Given the description of an element on the screen output the (x, y) to click on. 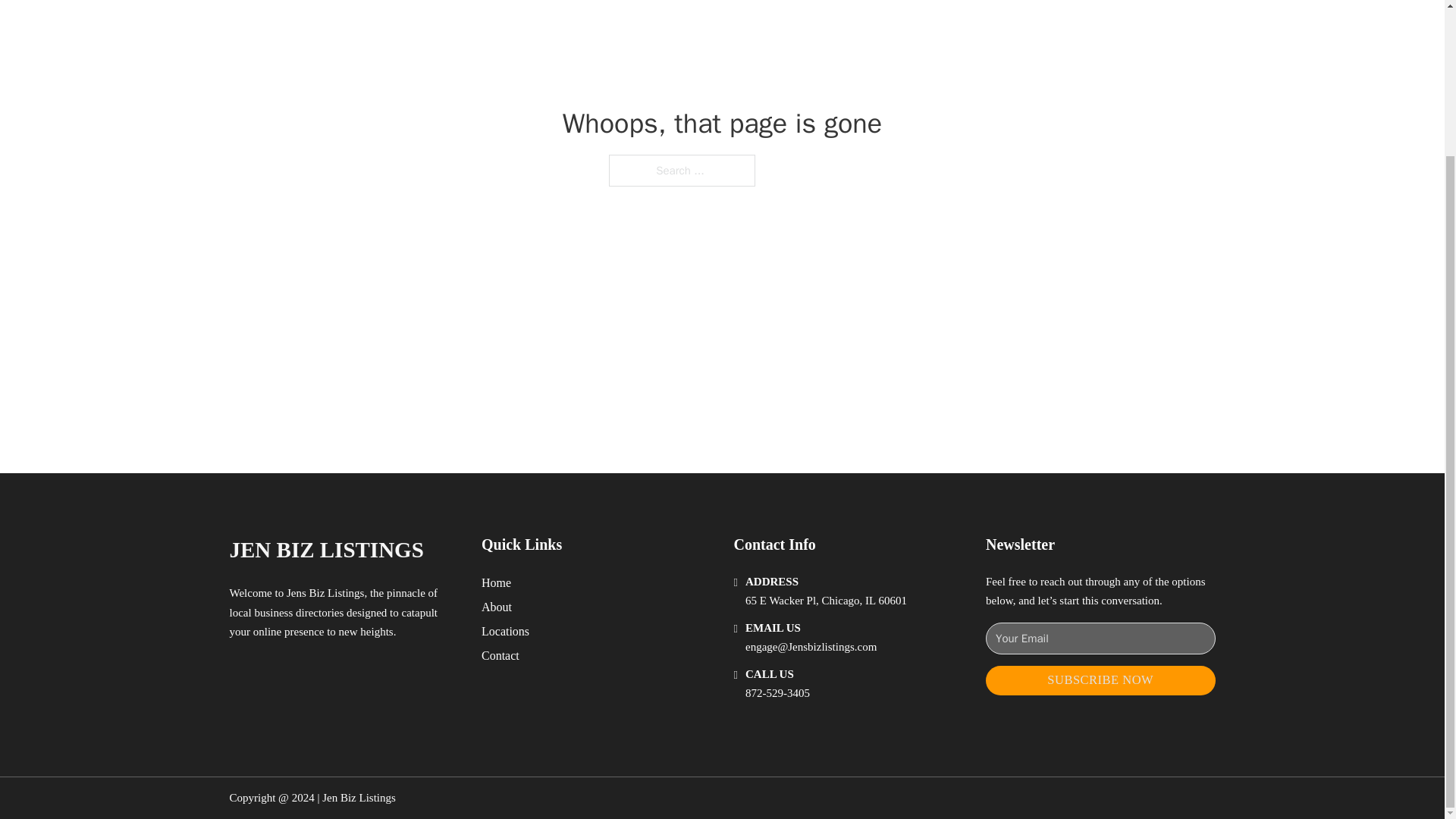
SUBSCRIBE NOW (1100, 680)
Home (496, 582)
872-529-3405 (777, 693)
Contact (500, 655)
About (496, 607)
JEN BIZ LISTINGS (325, 549)
Locations (505, 630)
